Given the description of an element on the screen output the (x, y) to click on. 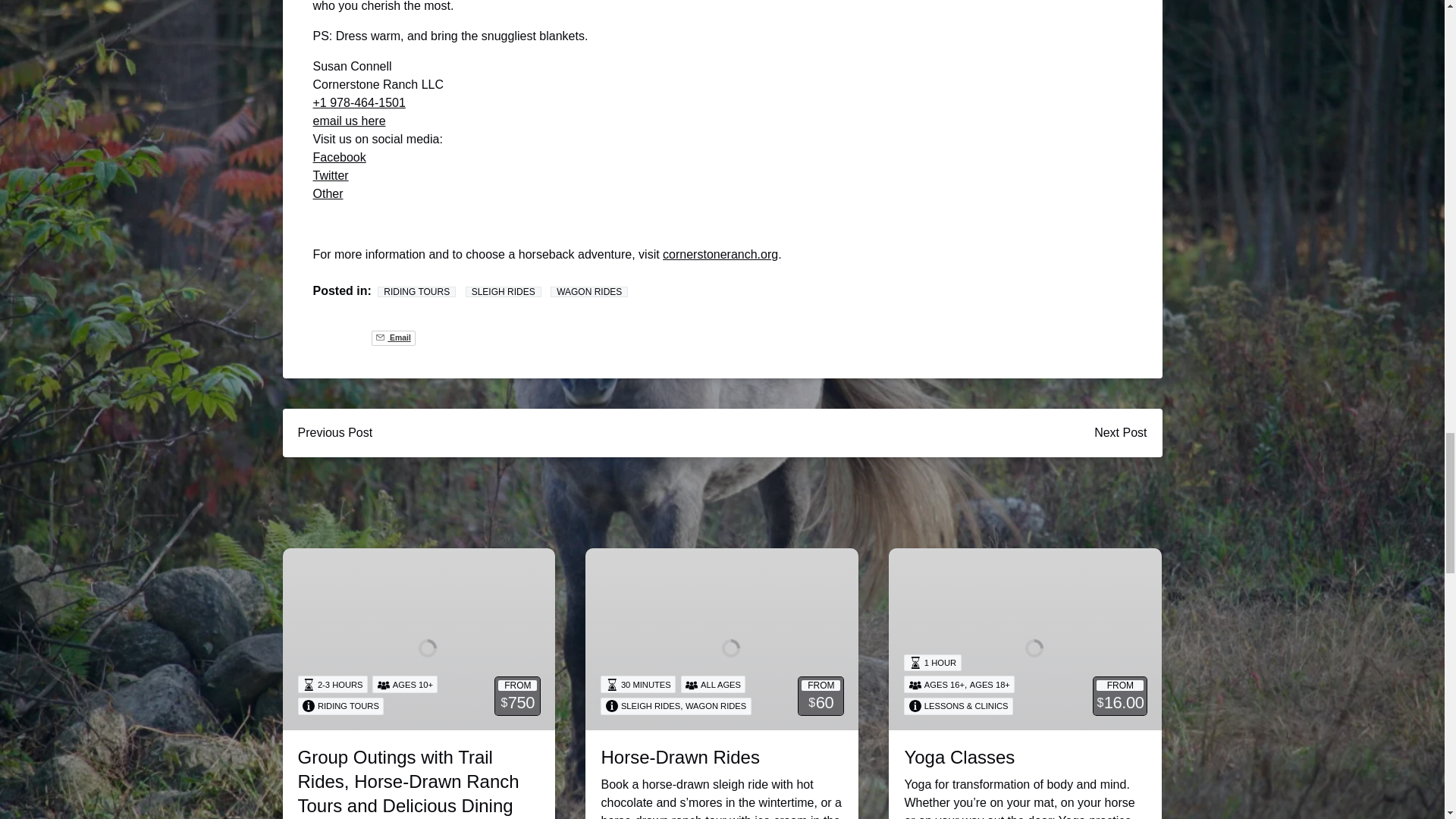
Email (392, 337)
Other (327, 193)
email us here (349, 120)
Facebook (339, 156)
Twitter (330, 174)
SLEIGH RIDES (503, 291)
cornerstoneranch.org (719, 254)
WAGON RIDES (588, 291)
RIDING TOURS (416, 291)
